Given the description of an element on the screen output the (x, y) to click on. 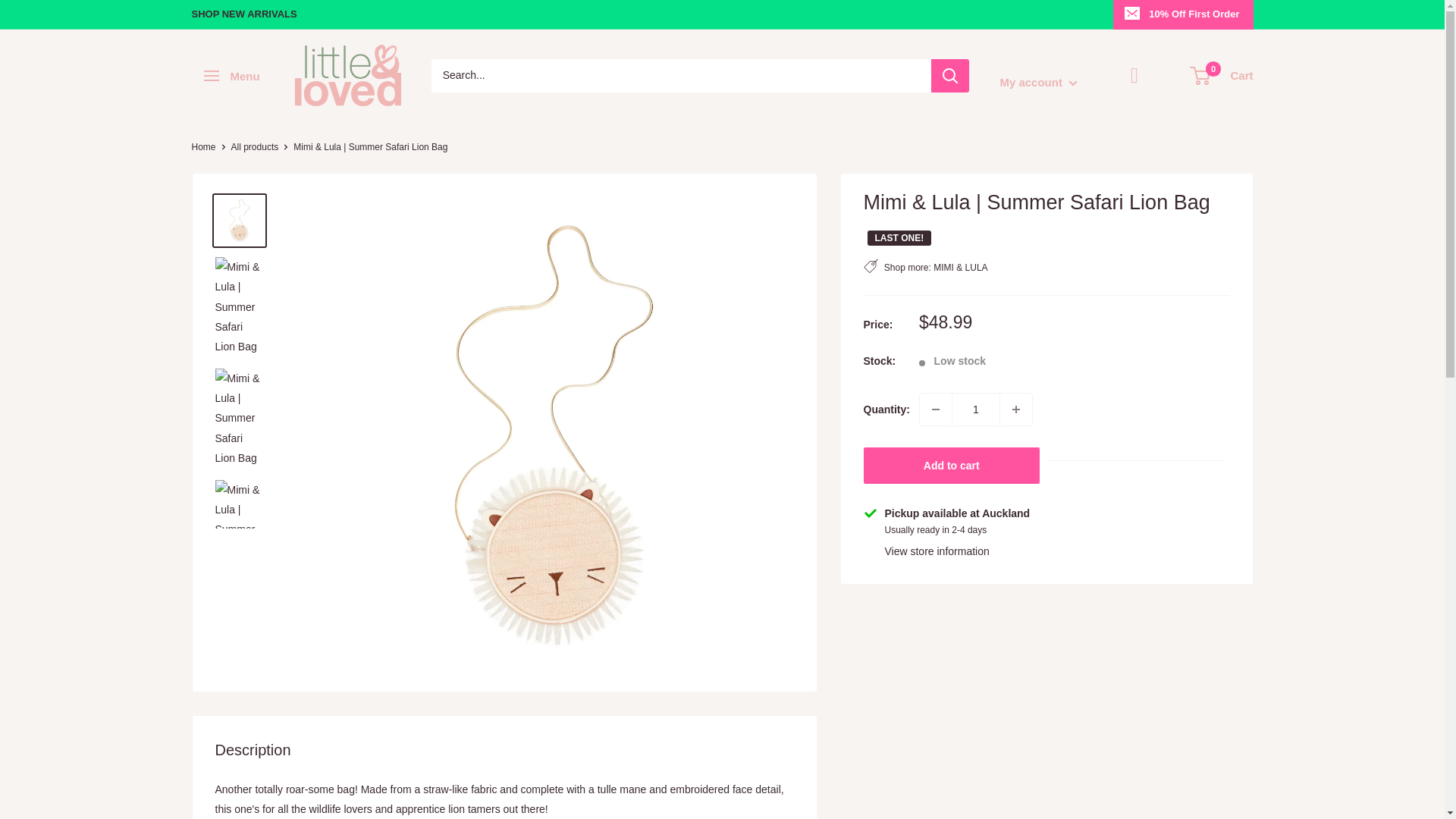
Decrease quantity by 1 (936, 409)
Increase quantity by 1 (1016, 409)
SHOP NEW ARRIVALS (243, 14)
1 (976, 409)
